Given the description of an element on the screen output the (x, y) to click on. 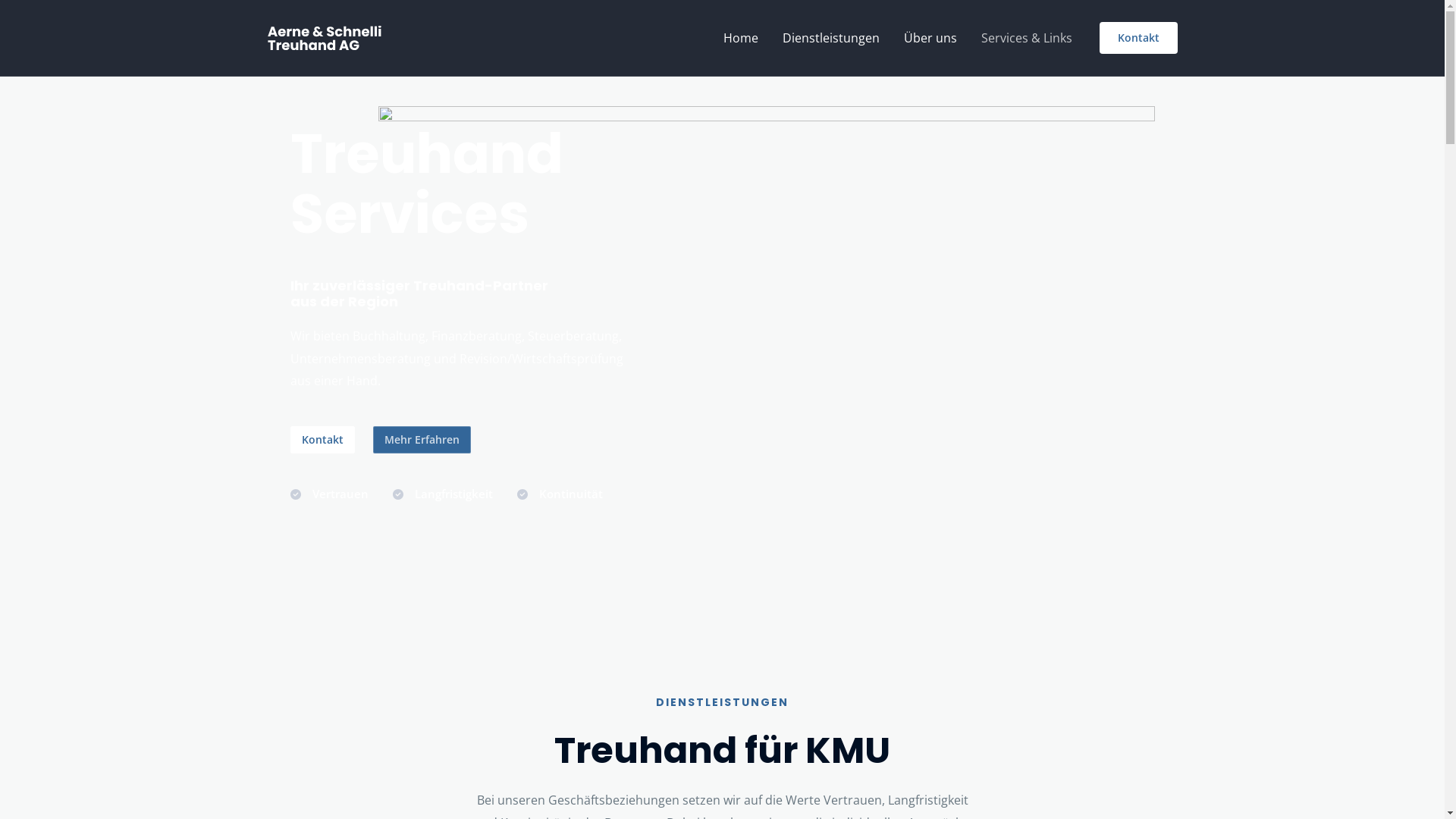
Kontakt Element type: text (1138, 37)
Mehr Erfahren Element type: text (421, 439)
Kontakt Element type: text (321, 439)
Services & Links Element type: text (1026, 37)
Dienstleistungen Element type: text (830, 37)
Home Element type: text (740, 37)
